Given the description of an element on the screen output the (x, y) to click on. 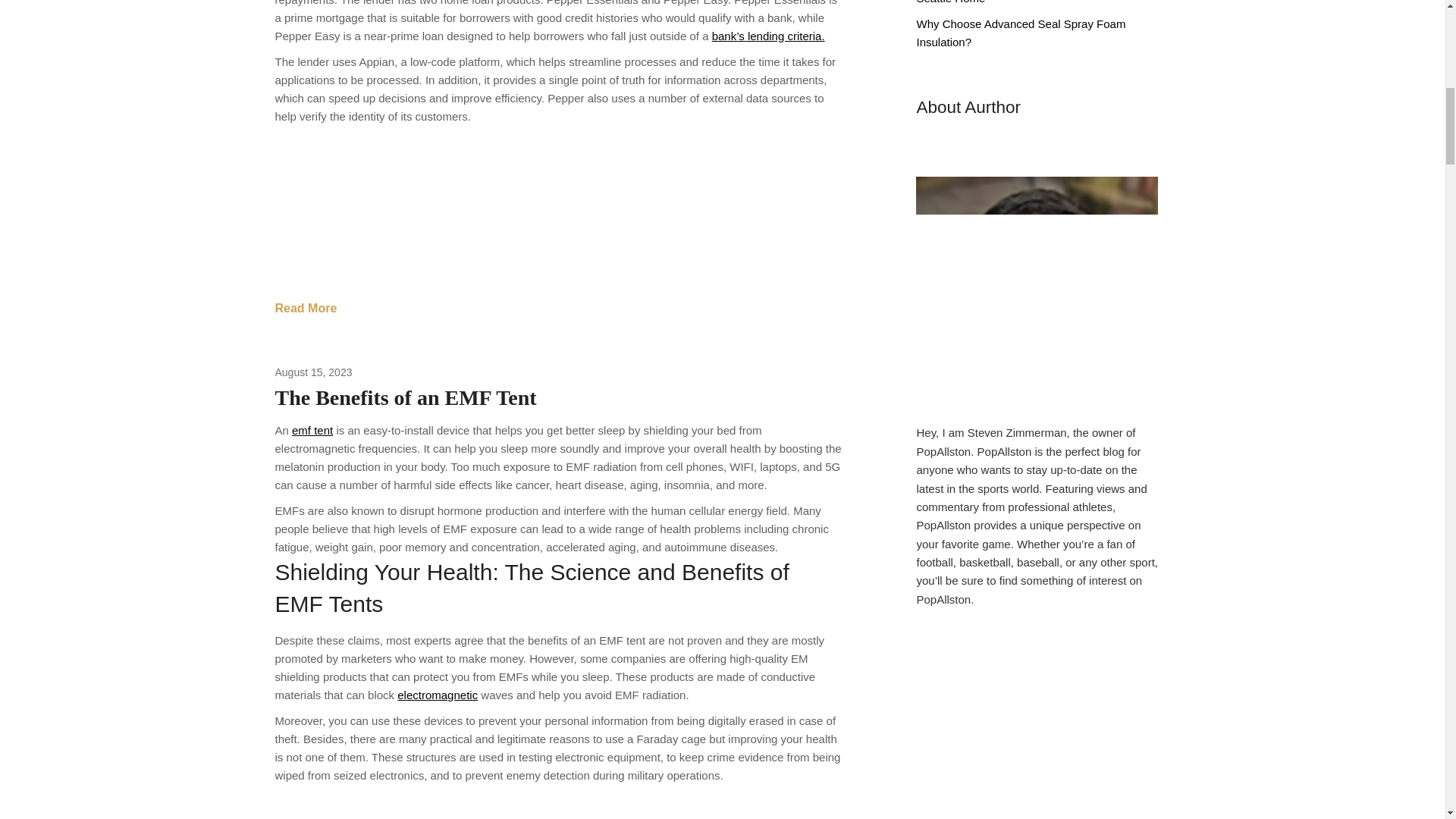
The Benefits of an EMF Tent (405, 397)
emf tent (312, 430)
August 15, 2023 (313, 372)
electromagnetic (437, 694)
Read More (305, 308)
